Given the description of an element on the screen output the (x, y) to click on. 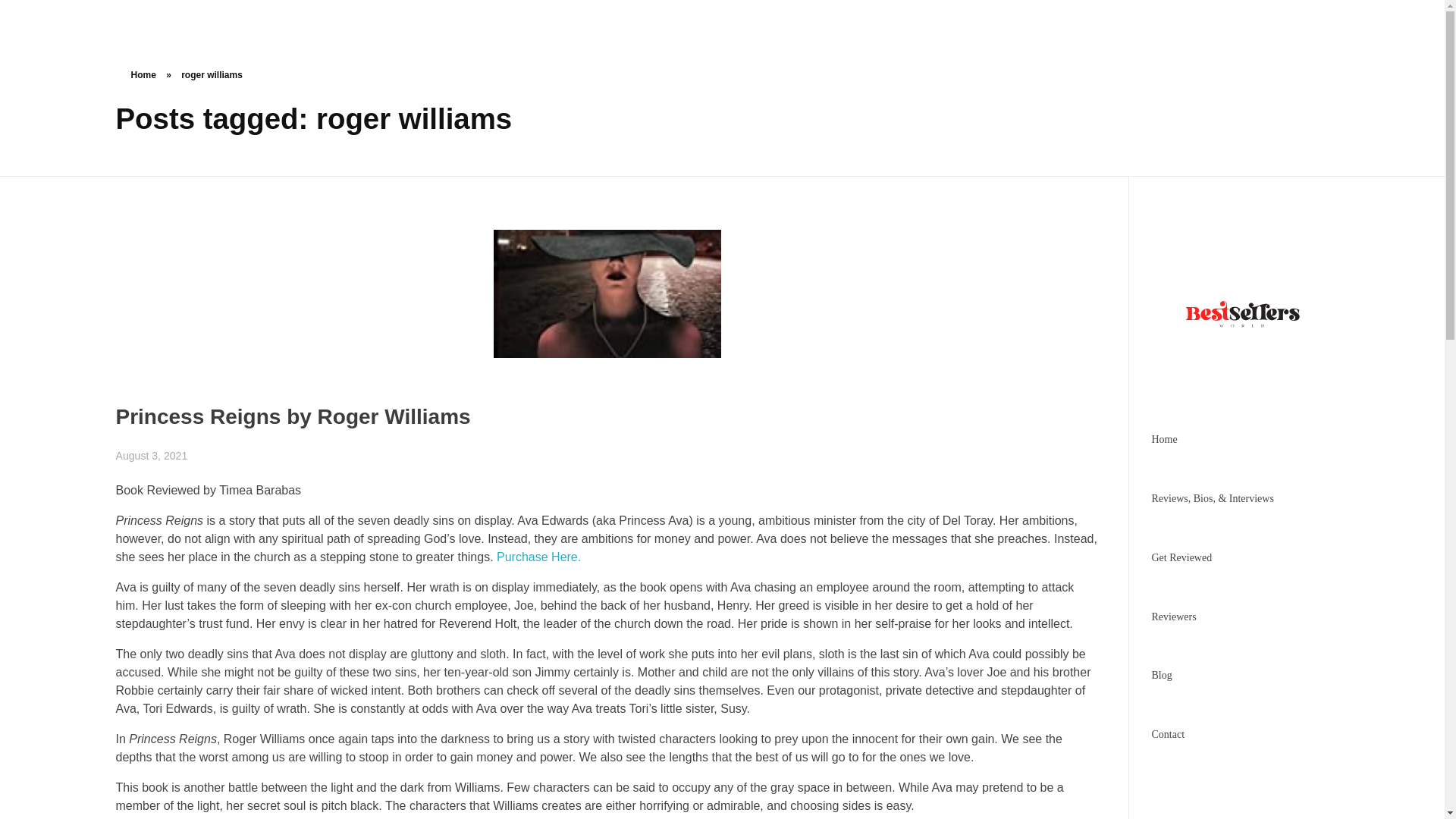
Blog (1161, 674)
2021-08-03T20:45:06-05:00 (151, 455)
Reviewers (1173, 616)
Home (1163, 439)
Princess Reigns by Roger Williams (292, 416)
August 3, 2021 (151, 455)
Get Reviewed (1181, 557)
Purchase Here. (538, 556)
Contact (1168, 734)
Home (143, 74)
